Given the description of an element on the screen output the (x, y) to click on. 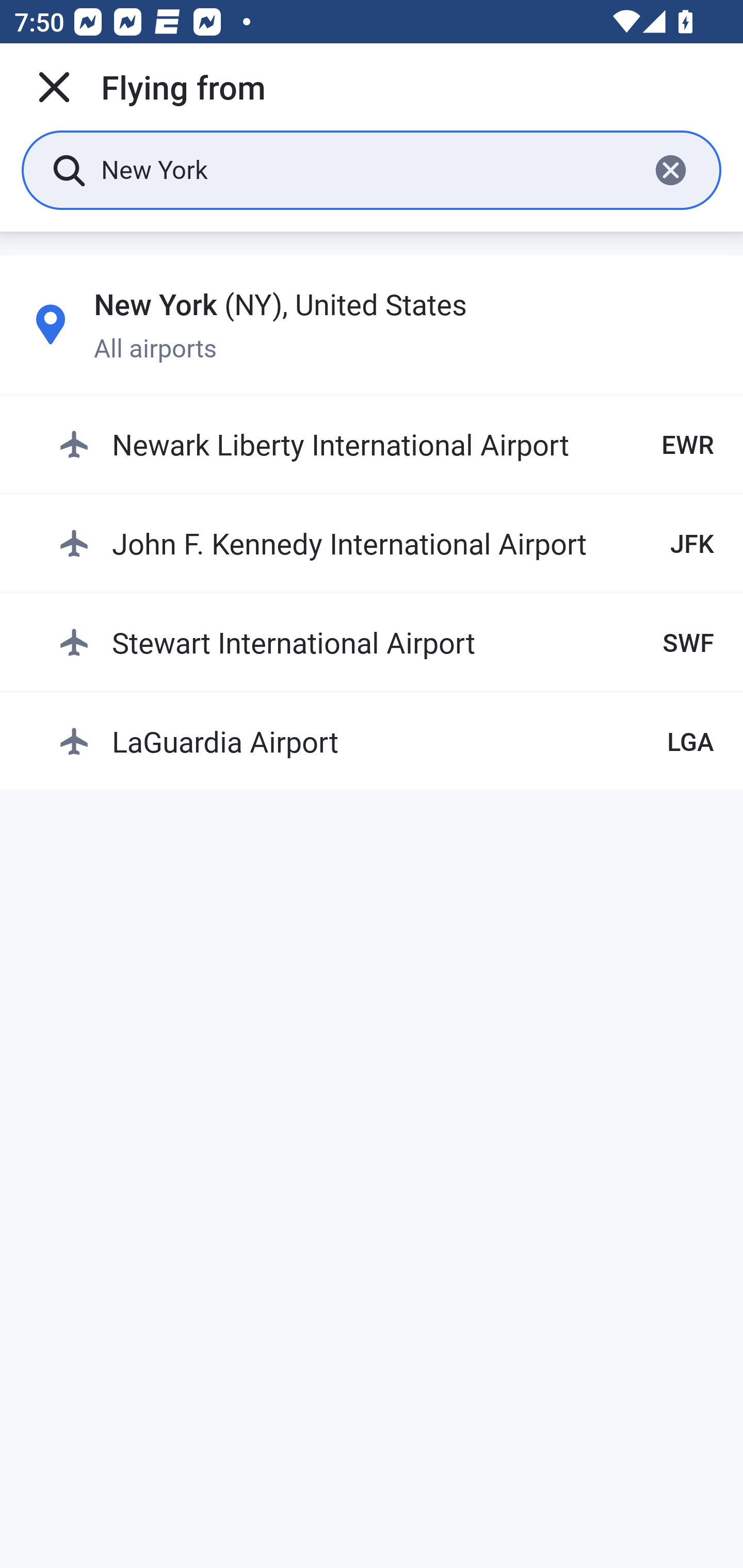
New York (367, 169)
New York (NY), United States All airports (371, 324)
Newark Liberty International Airport EWR (385, 444)
John F. Kennedy International Airport JFK (385, 543)
Stewart International Airport SWF (385, 641)
LaGuardia Airport LGA (385, 740)
